Given the description of an element on the screen output the (x, y) to click on. 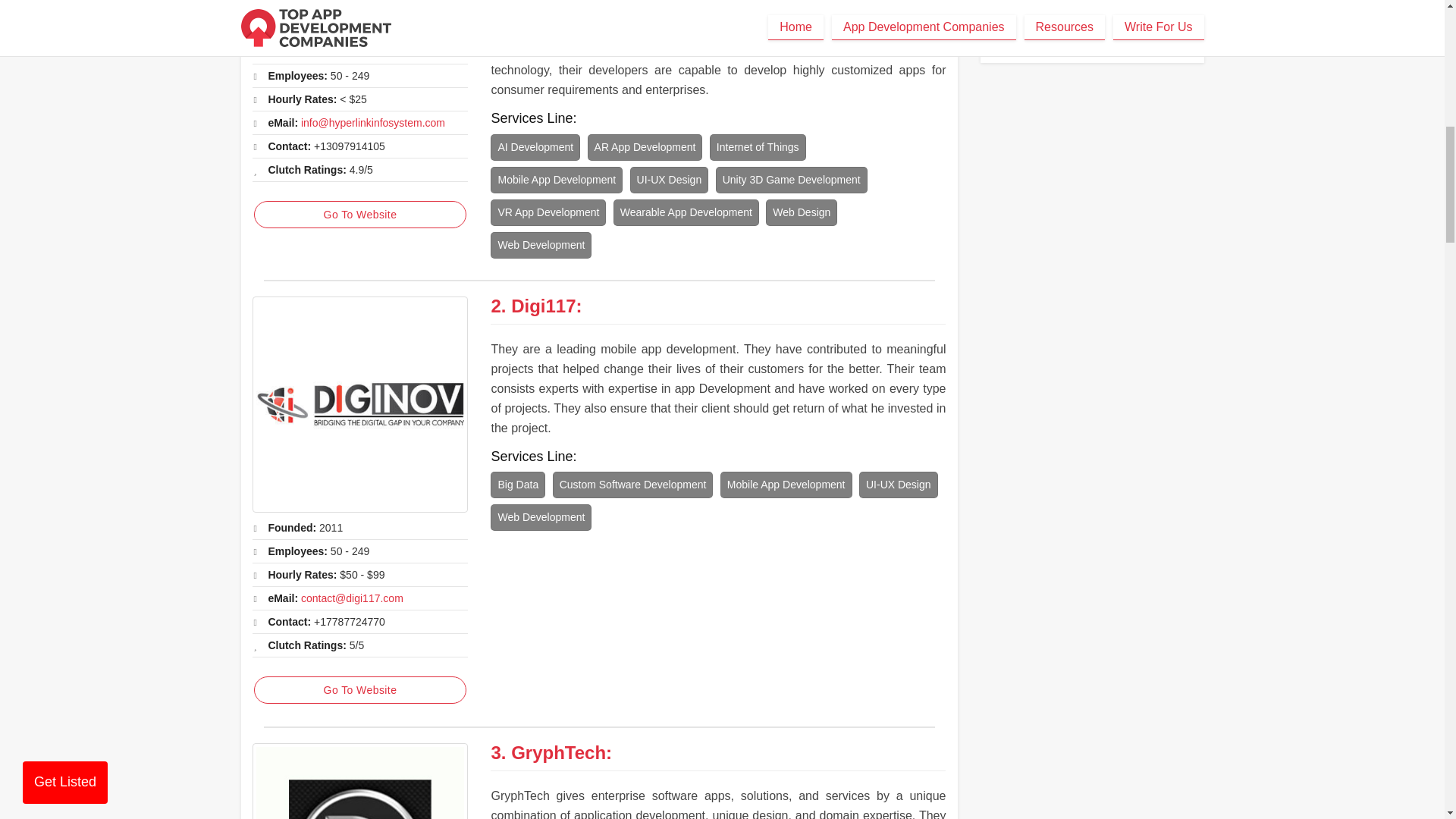
GryphTech (558, 752)
Go To Website (359, 689)
Digi117 (359, 404)
GryphTech (359, 780)
Go To Website (359, 214)
Hyperlink InfoSystem (359, 18)
Digi117 (543, 305)
